Given the description of an element on the screen output the (x, y) to click on. 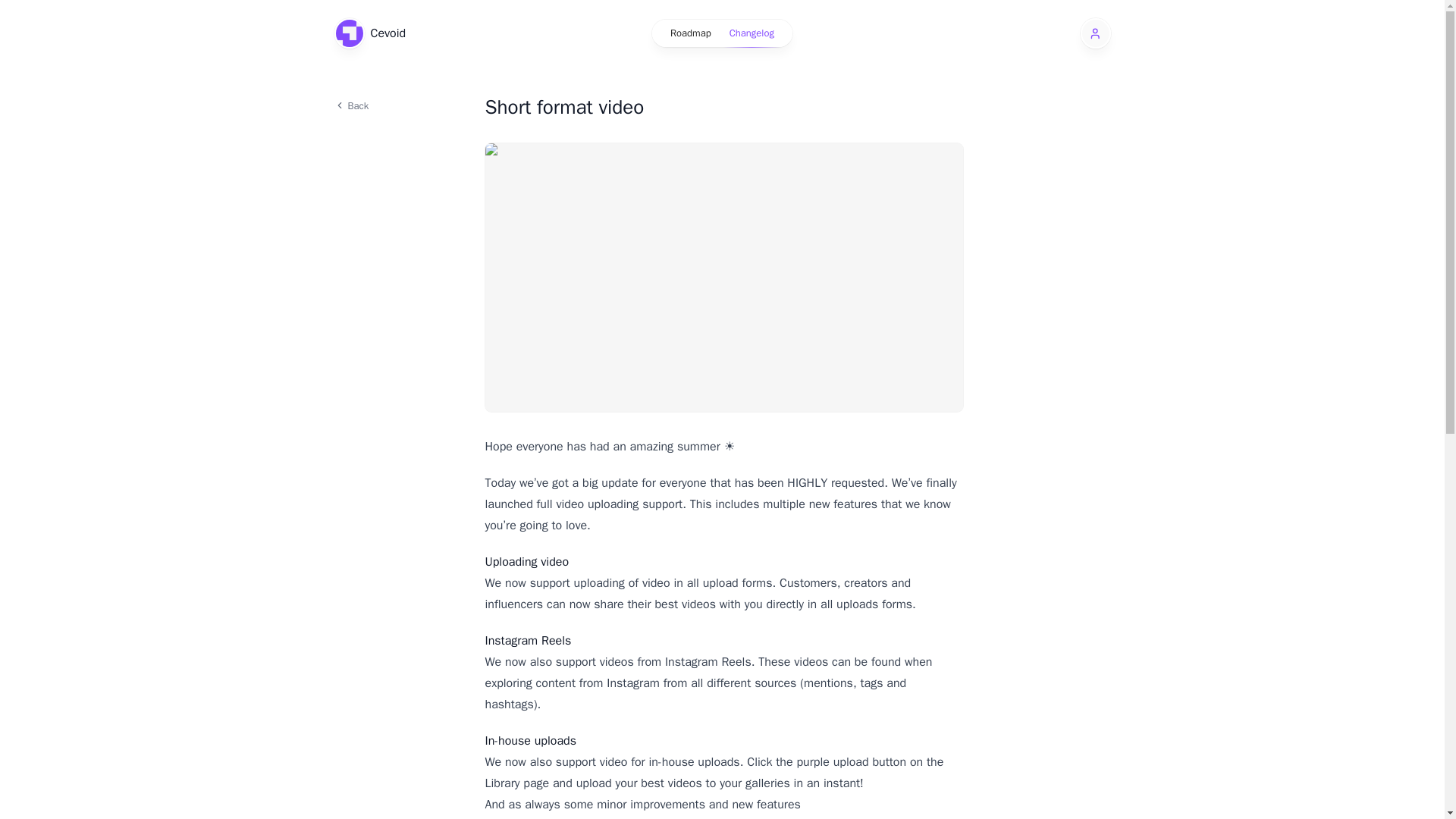
Roadmap (690, 32)
Back (399, 104)
Changelog (751, 32)
Cevoid (369, 33)
Short format video (723, 107)
